Given the description of an element on the screen output the (x, y) to click on. 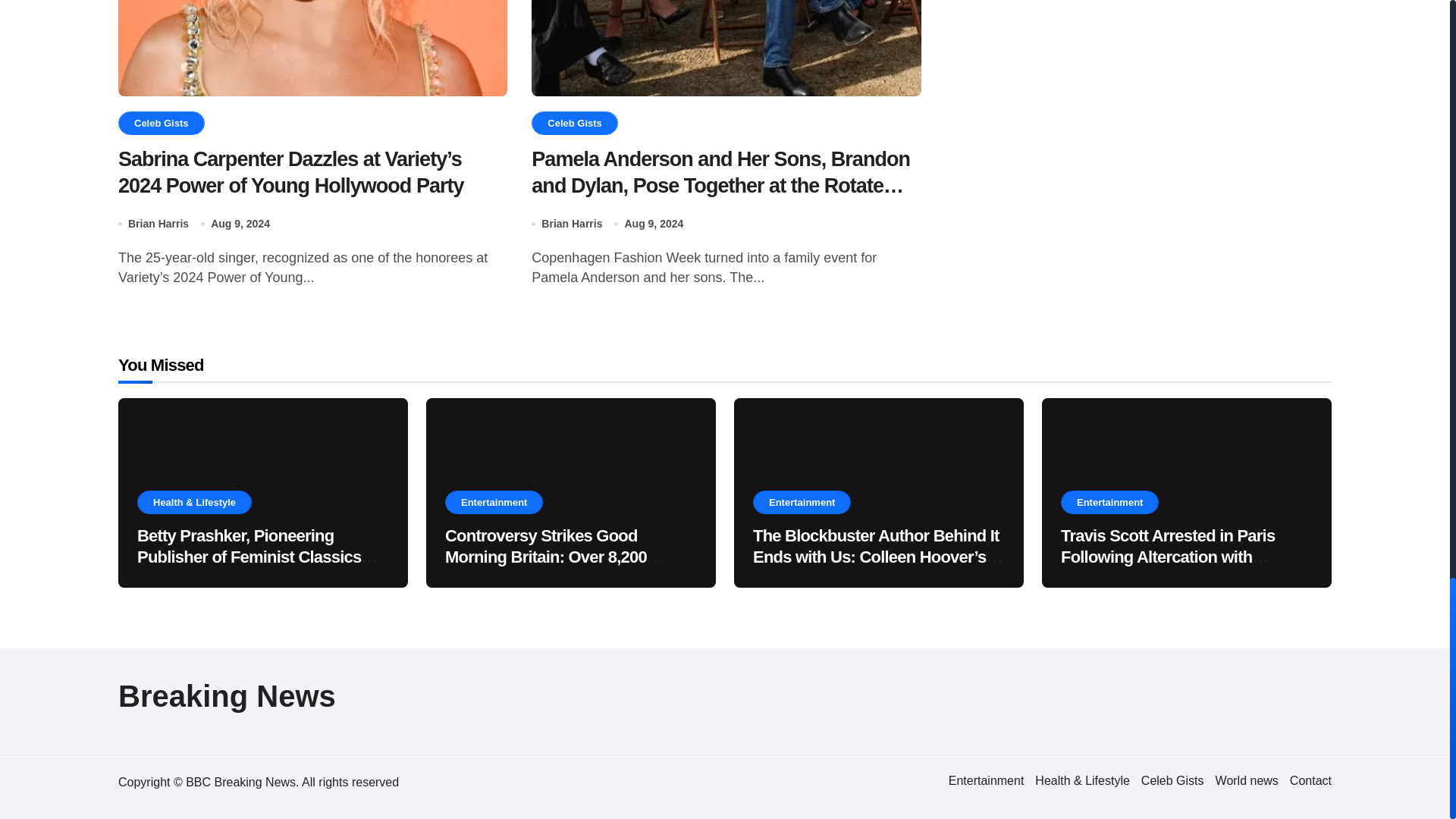
Celeb Gists (1172, 780)
Contact (1311, 780)
Entertainment (987, 780)
World news (1246, 780)
